Given the description of an element on the screen output the (x, y) to click on. 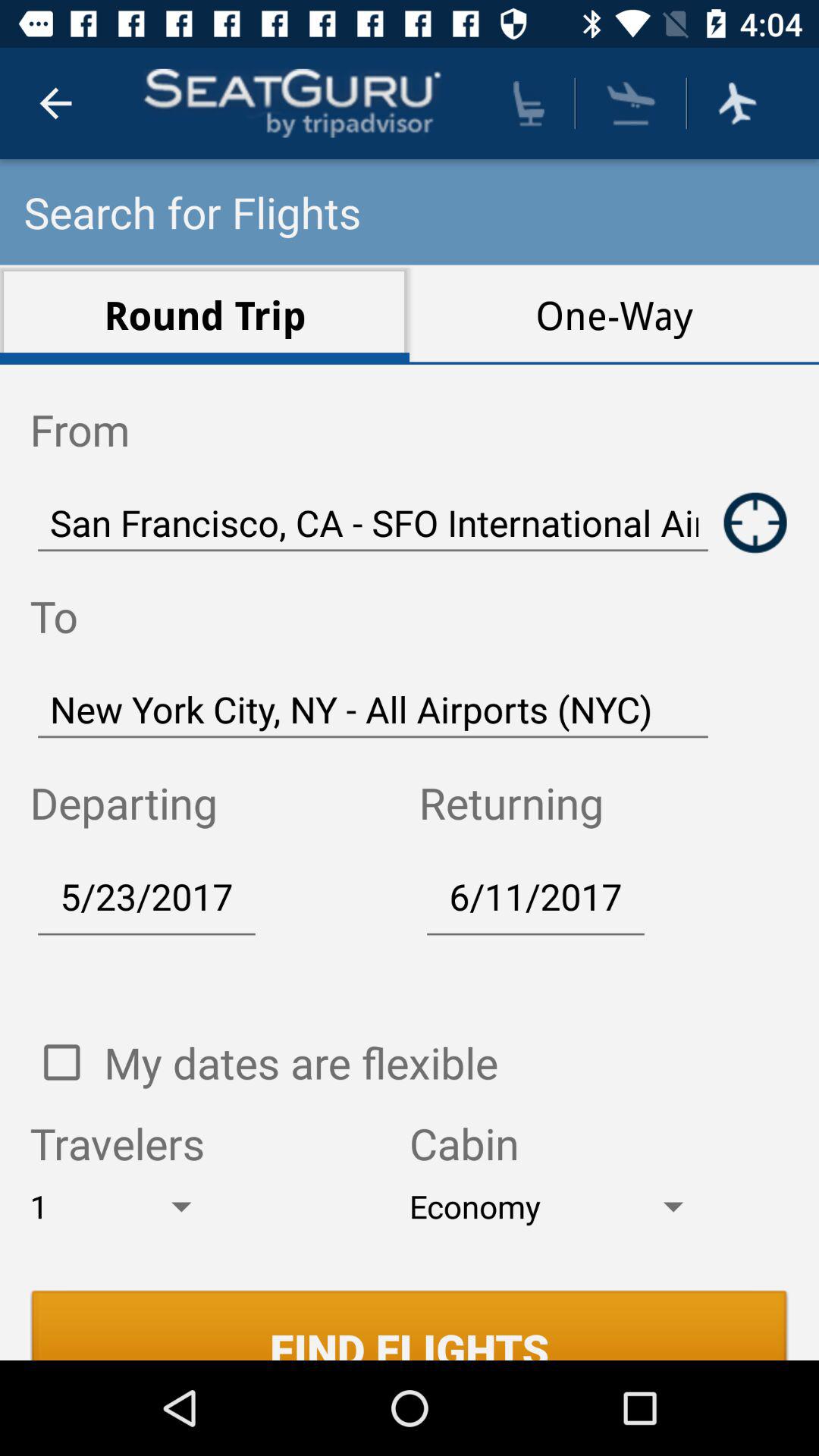
choose the item to the right of 5/23/2017 icon (535, 895)
